Given the description of an element on the screen output the (x, y) to click on. 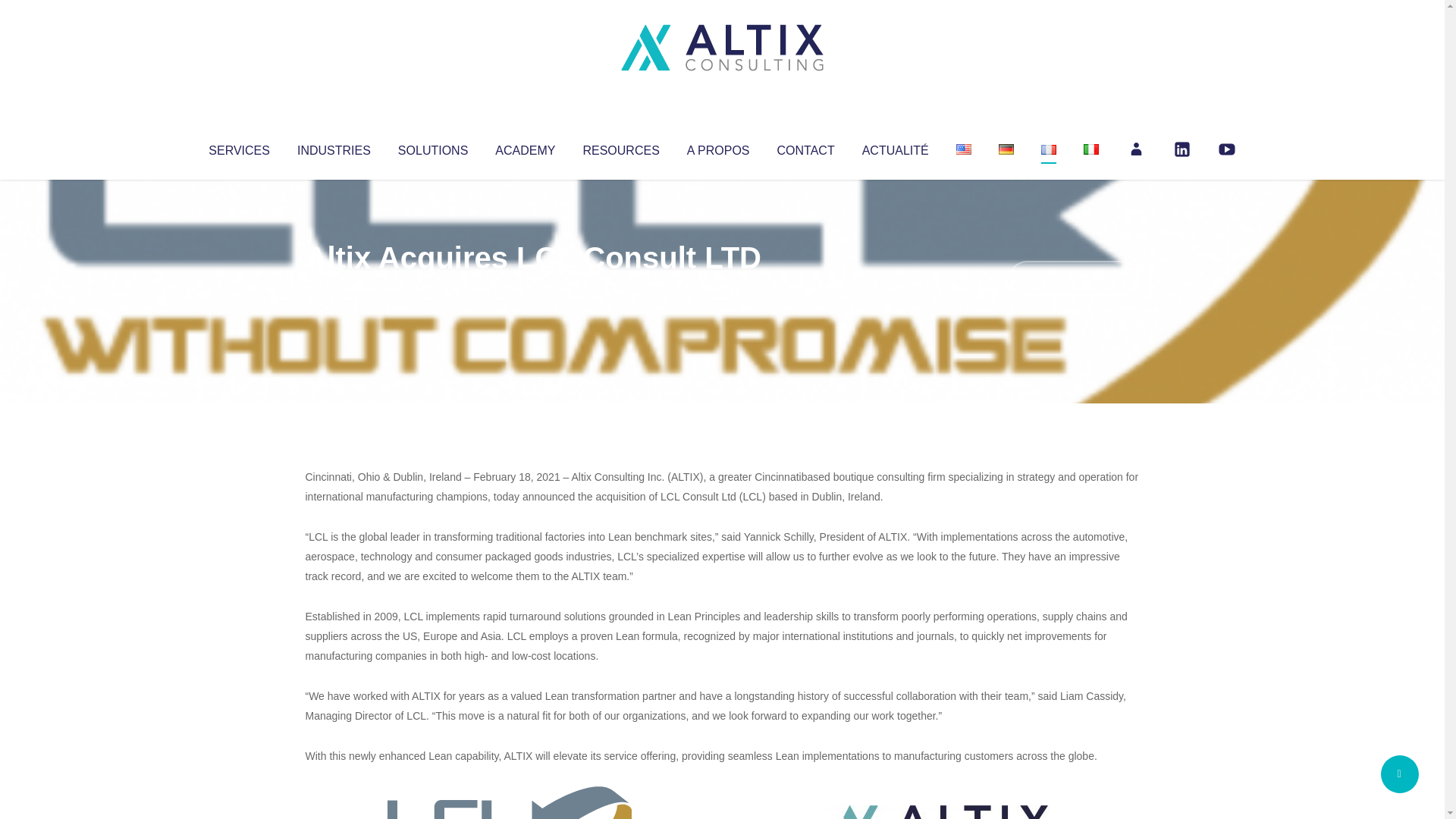
Uncategorized (530, 287)
No Comments (1073, 278)
ACADEMY (524, 146)
Articles par Altix (333, 287)
SERVICES (238, 146)
RESOURCES (620, 146)
Altix (333, 287)
SOLUTIONS (432, 146)
A PROPOS (718, 146)
INDUSTRIES (334, 146)
